Given the description of an element on the screen output the (x, y) to click on. 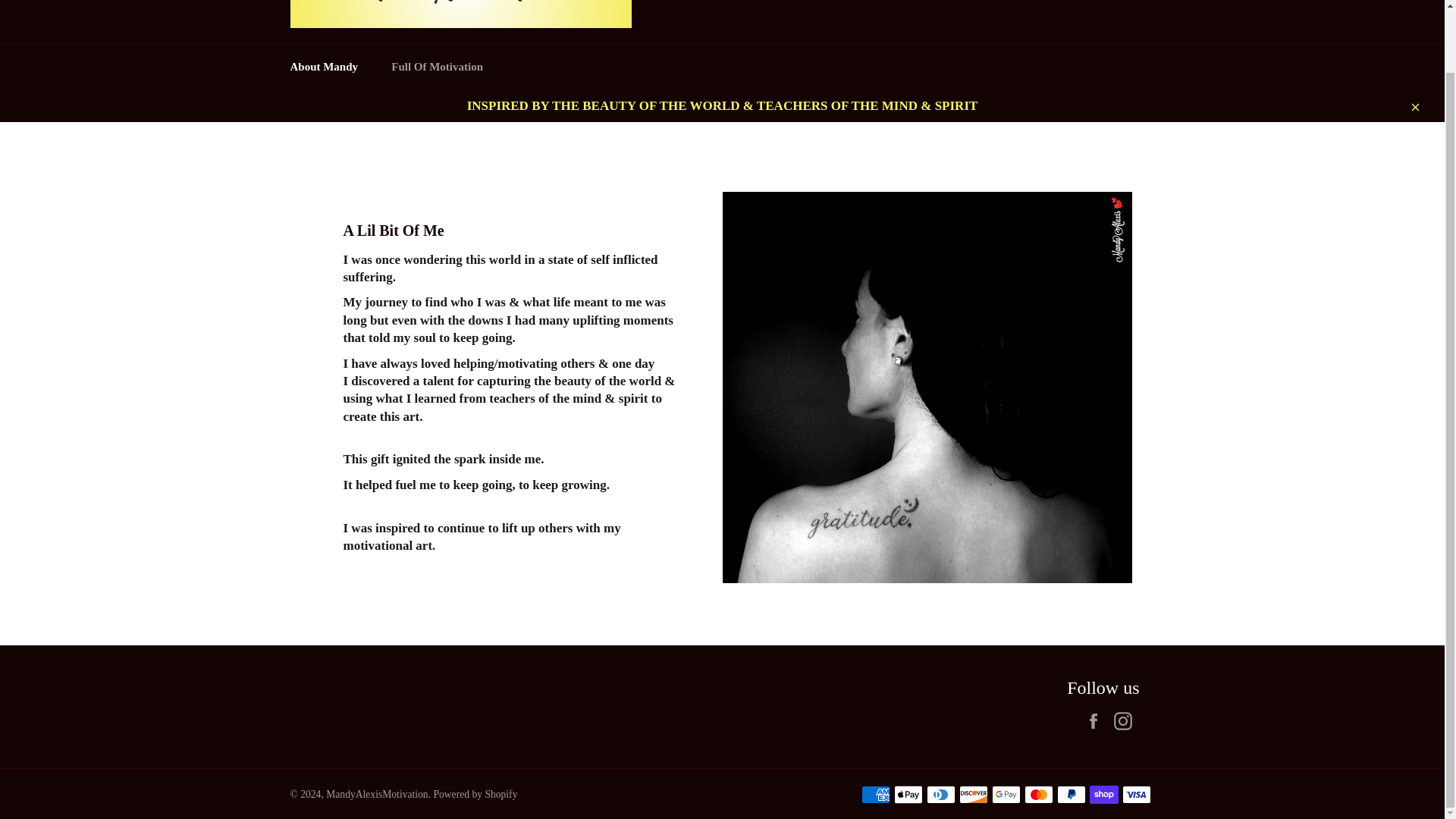
Cart (1138, 2)
MandyAlexisMotivation on Instagram (1125, 720)
MandyAlexisMotivation (377, 794)
Close (1414, 105)
Instagram (1125, 720)
Powered by Shopify (474, 794)
Full Of Motivation (436, 67)
Search (1104, 1)
Facebook (1096, 720)
MandyAlexisMotivation on Facebook (1096, 720)
About Mandy (323, 67)
